Given the description of an element on the screen output the (x, y) to click on. 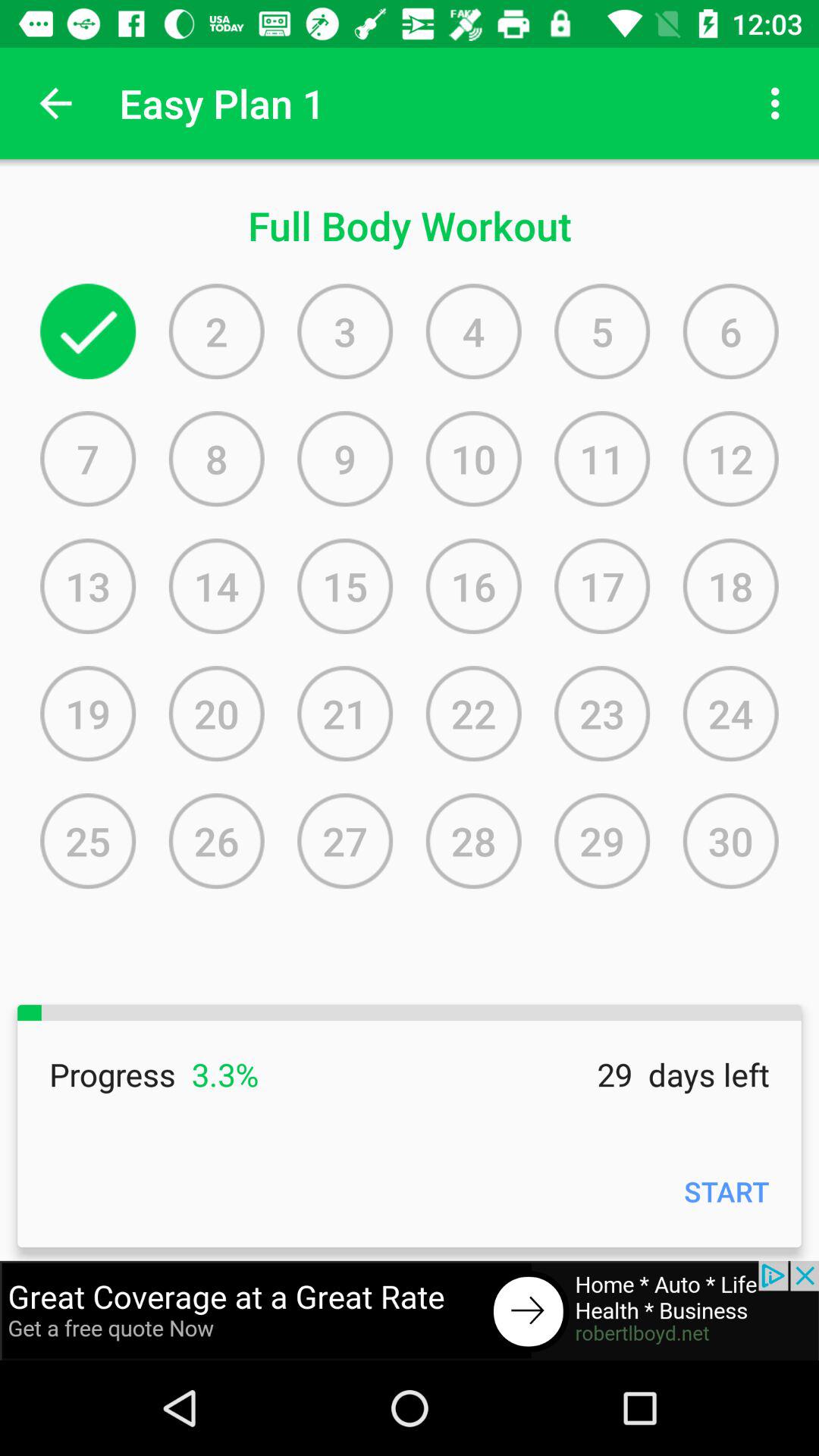
health add (409, 1310)
